Given the description of an element on the screen output the (x, y) to click on. 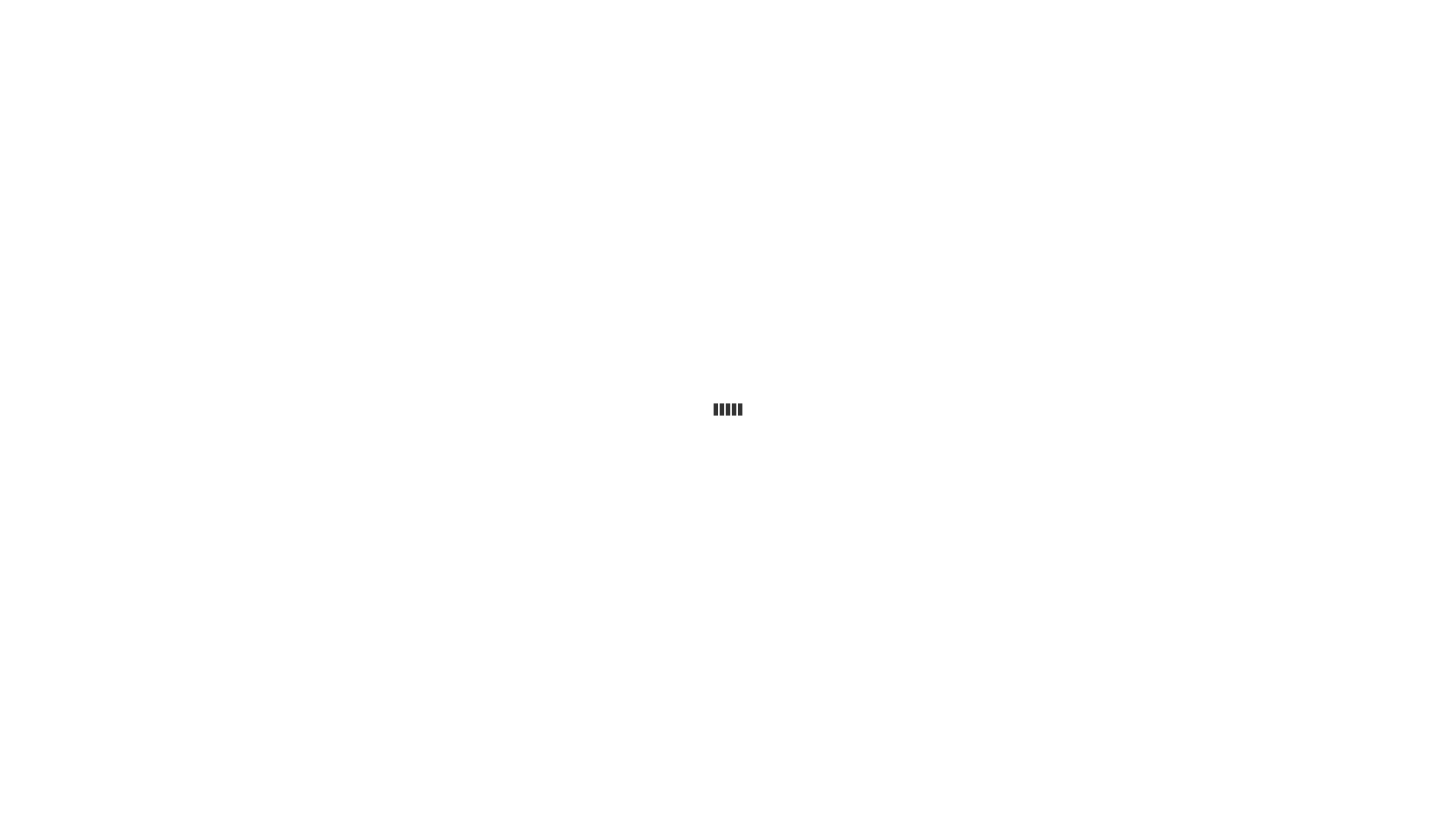
Advertisement Element type: hover (728, 206)
Goroda.by Element type: text (1130, 17)
